Given the description of an element on the screen output the (x, y) to click on. 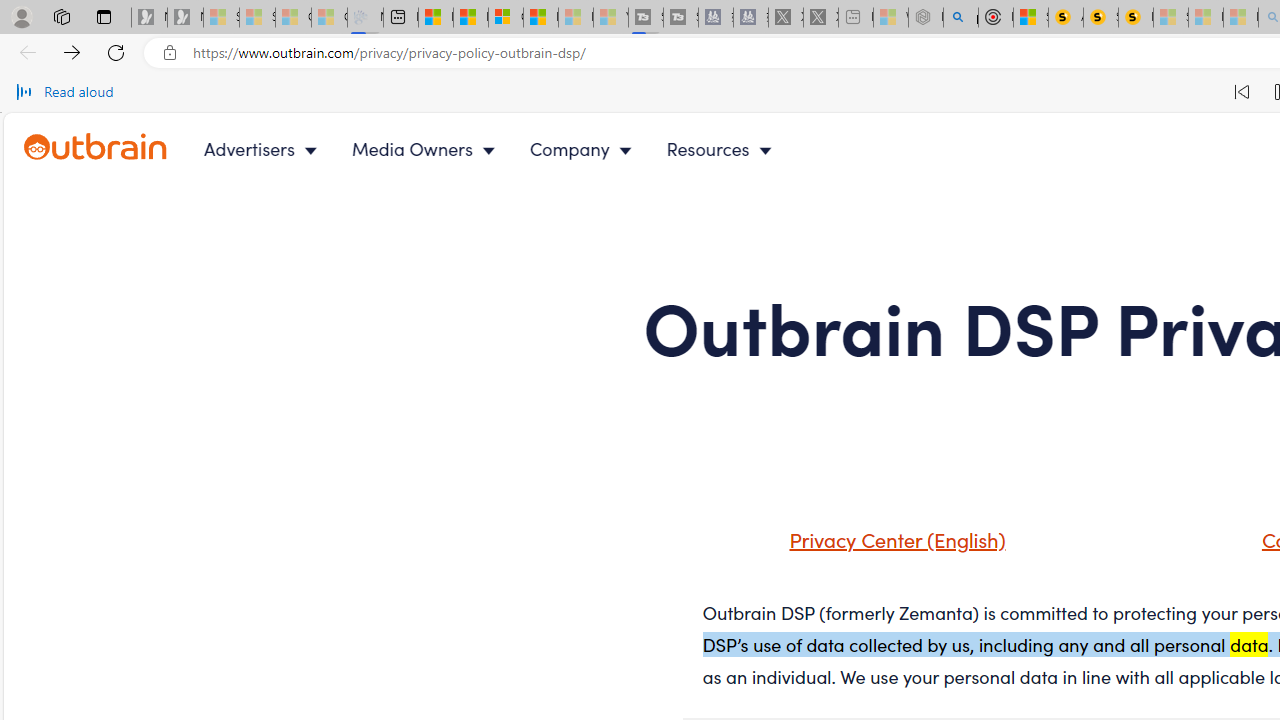
Nordace - Summer Adventures 2024 - Sleeping (925, 17)
Main Navigation (504, 148)
Privacy Center (English) (872, 546)
Media Owners (427, 148)
Wildlife - MSN - Sleeping (890, 17)
